Given the description of an element on the screen output the (x, y) to click on. 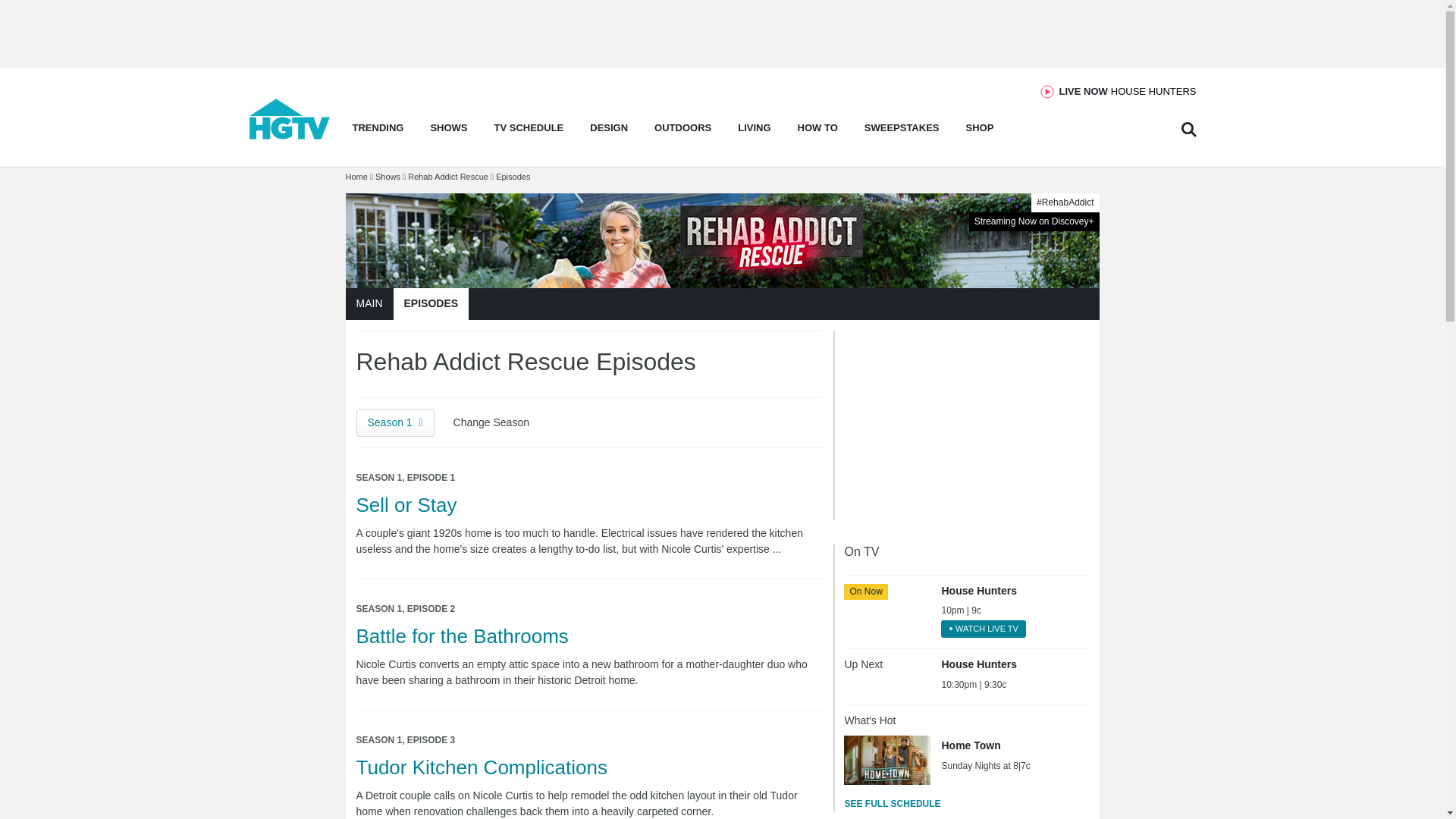
Home Town (887, 759)
TRENDING (377, 132)
home (1127, 91)
SHOWS (289, 135)
